Given the description of an element on the screen output the (x, y) to click on. 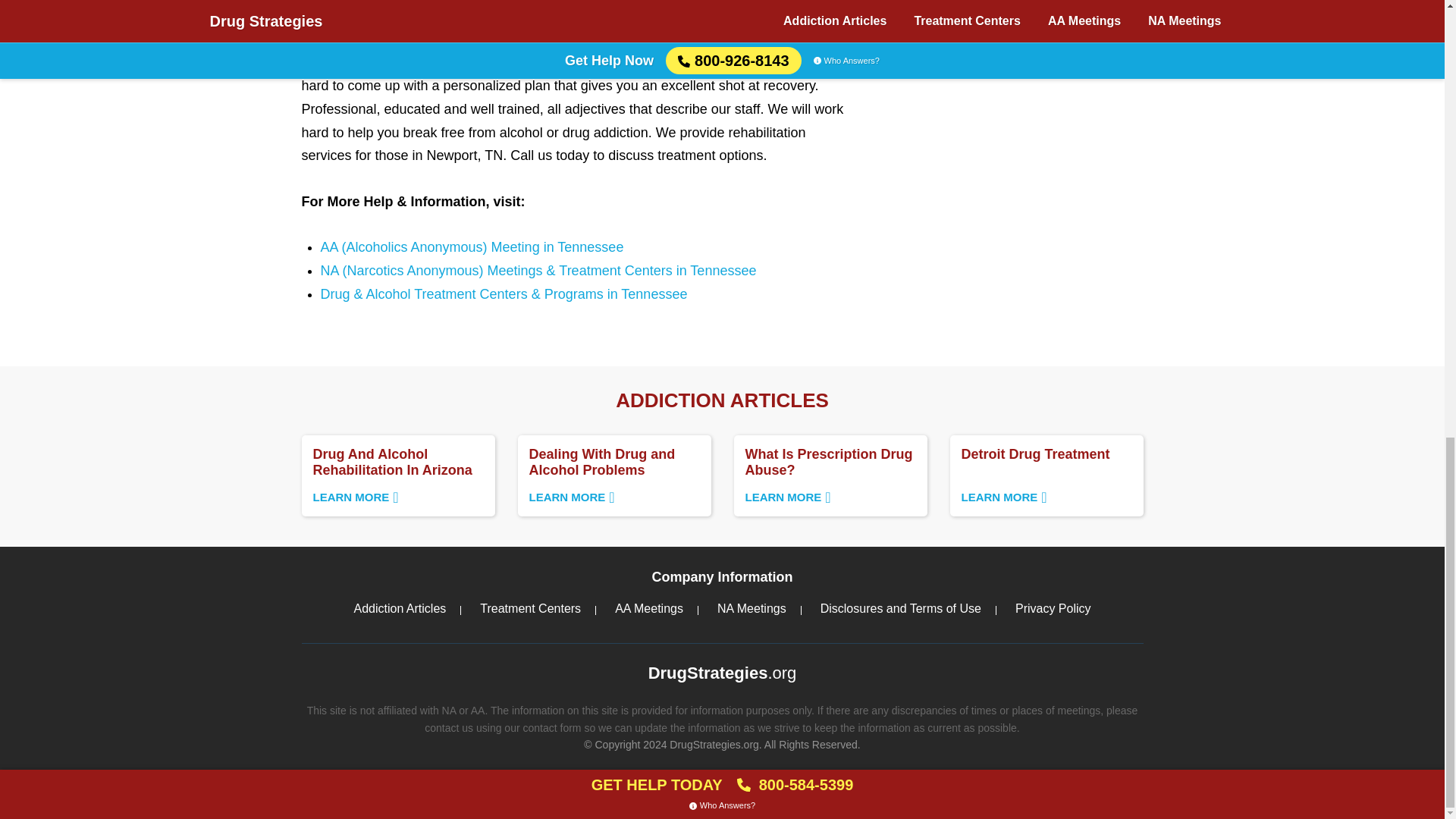
AA Meetings (398, 475)
Treatment Centers (648, 608)
Addiction Articles (529, 608)
DrugStrategies.org (399, 608)
NA Meetings (721, 673)
Disclosures and Terms of Use (751, 608)
